Given the description of an element on the screen output the (x, y) to click on. 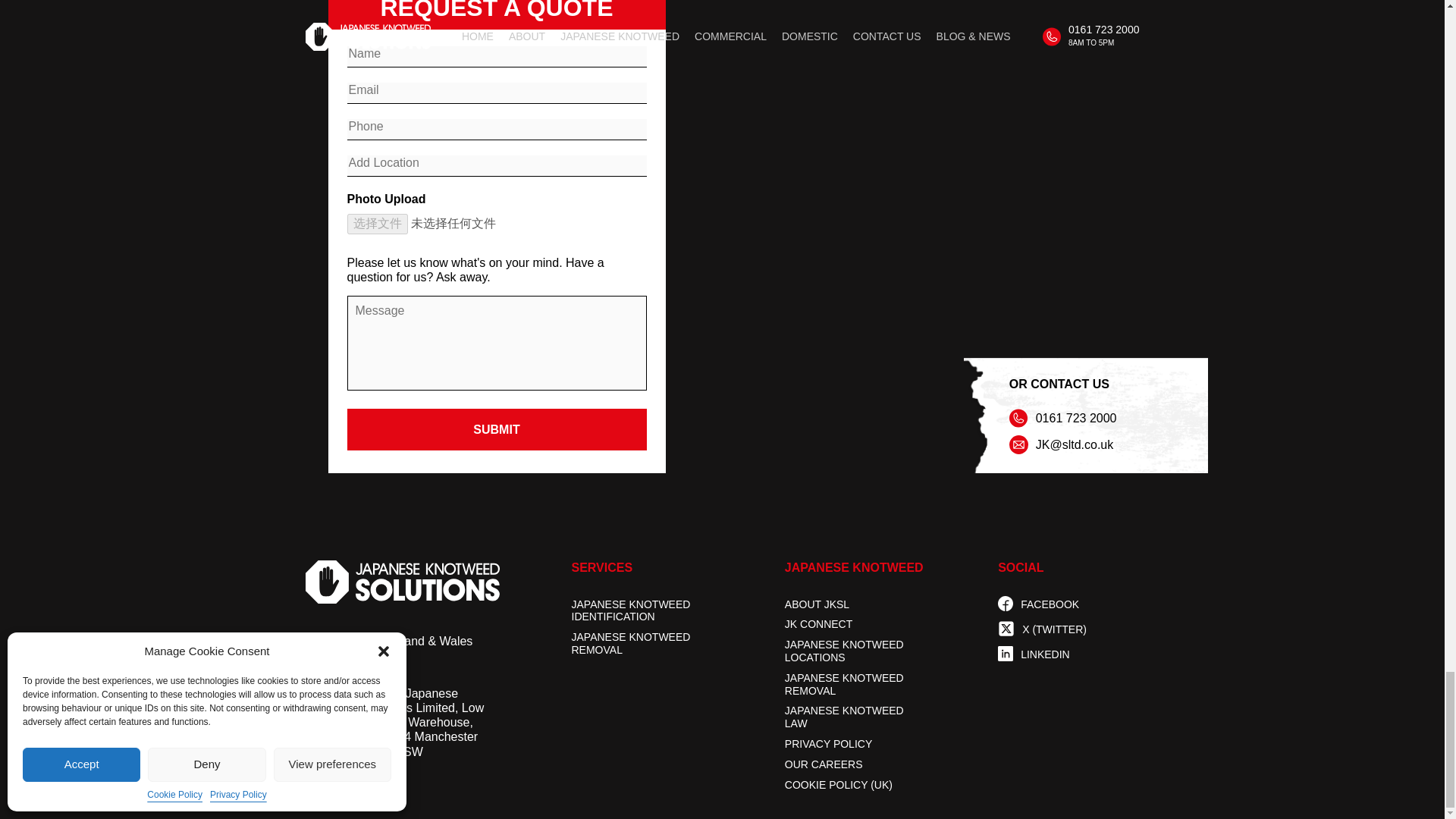
Submit (496, 429)
